Given the description of an element on the screen output the (x, y) to click on. 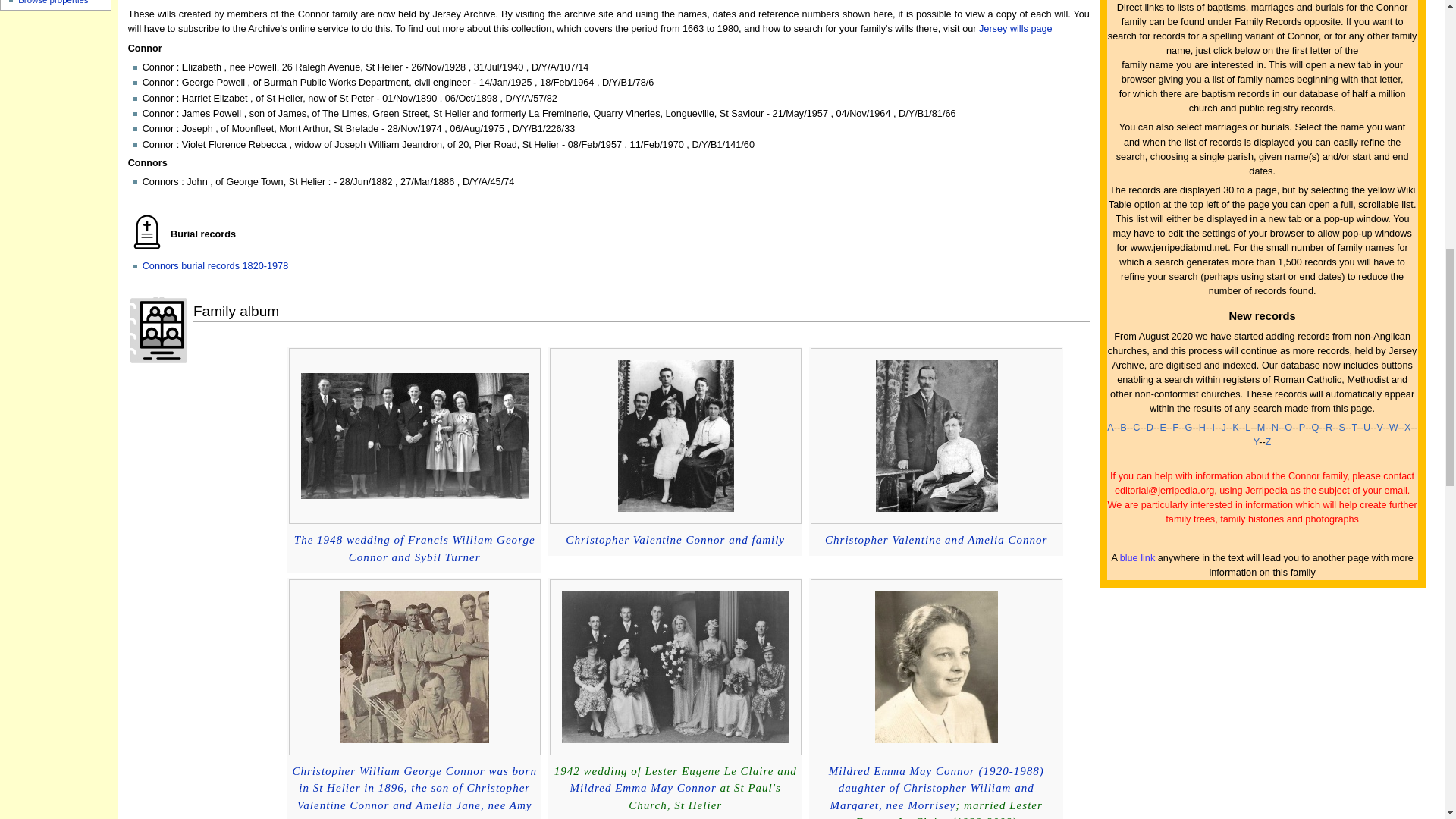
Descendants of Bernard Connor (935, 787)
Descendants of Bernard Connor (935, 539)
Jersey wills (1015, 28)
Descendants of Bernard Connor (414, 548)
Descendants of Bernard Connor (413, 787)
Descendants of Bernard Connor (643, 787)
Connors burial records 1820-1978 (215, 266)
Descendants of Bernard Connor (675, 539)
